Given the description of an element on the screen output the (x, y) to click on. 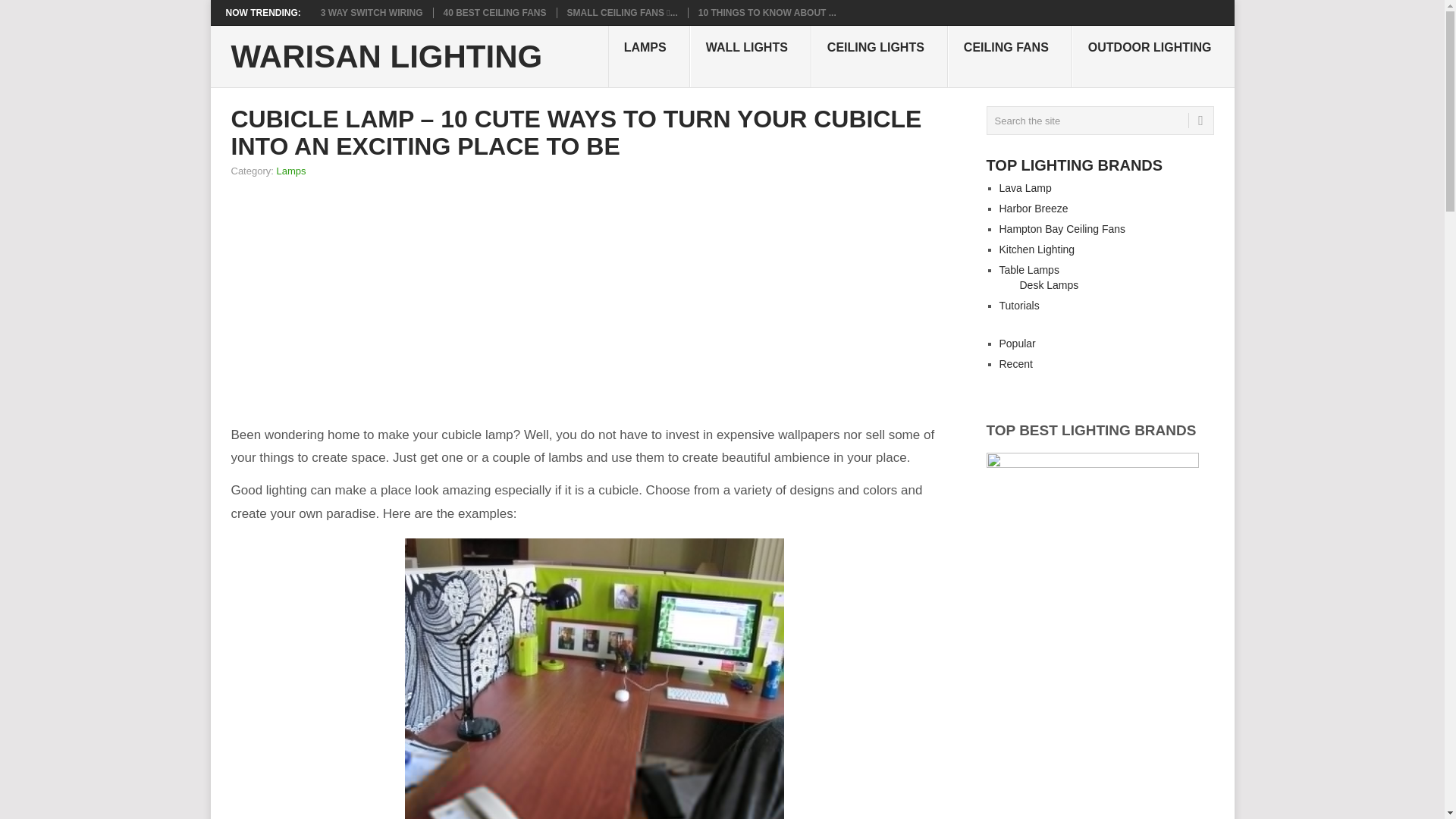
Lamps (290, 170)
Table Lamps (1028, 269)
3 WAY SWITCH WIRING (371, 12)
Harbor Breeze (1033, 208)
Tutorials (1018, 305)
OUTDOOR LIGHTING (1152, 56)
10 things to know about Outdoor Gazebo Lights (766, 12)
WARISAN LIGHTING (385, 56)
Search the site (1098, 120)
CEILING LIGHTS (878, 56)
